Given the description of an element on the screen output the (x, y) to click on. 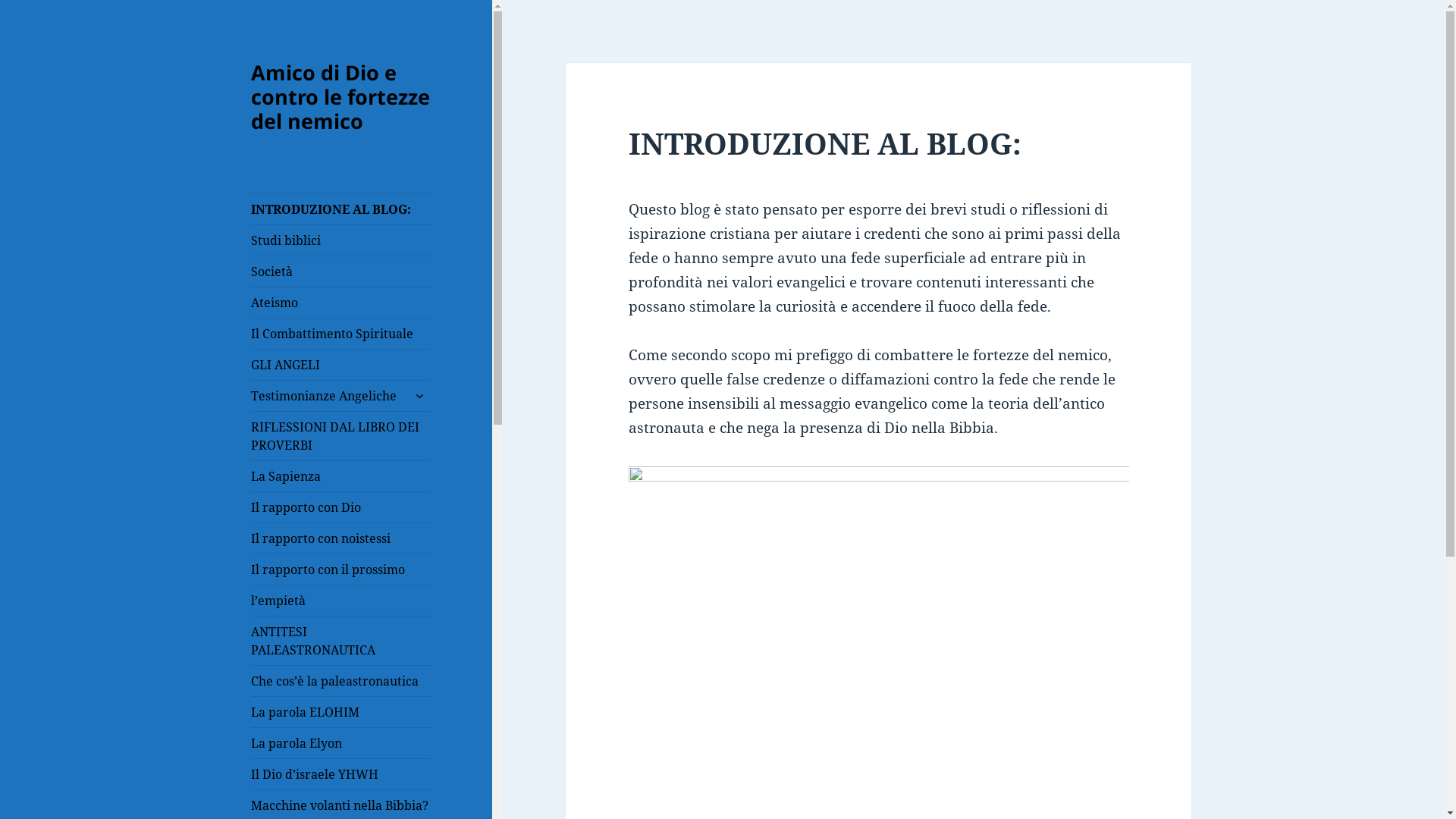
La Sapienza Element type: text (341, 476)
Il rapporto con il prossimo Element type: text (341, 569)
Ateismo Element type: text (341, 302)
Il rapporto con Dio Element type: text (341, 507)
Il rapporto con noistessi Element type: text (341, 538)
espandi menu secondario Element type: text (419, 395)
RIFLESSIONI DAL LIBRO DEI PROVERBI Element type: text (341, 435)
INTRODUZIONE AL BLOG: Element type: text (341, 209)
Amico di Dio e contro le fortezze del nemico Element type: text (340, 96)
GLI ANGELI Element type: text (341, 364)
ANTITESI PALEASTRONAUTICA Element type: text (341, 640)
La parola ELOHIM Element type: text (341, 711)
Il Combattimento Spirituale Element type: text (341, 333)
Testimonianze Angeliche Element type: text (341, 395)
La parola Elyon Element type: text (341, 743)
Studi biblici Element type: text (341, 240)
